Given the description of an element on the screen output the (x, y) to click on. 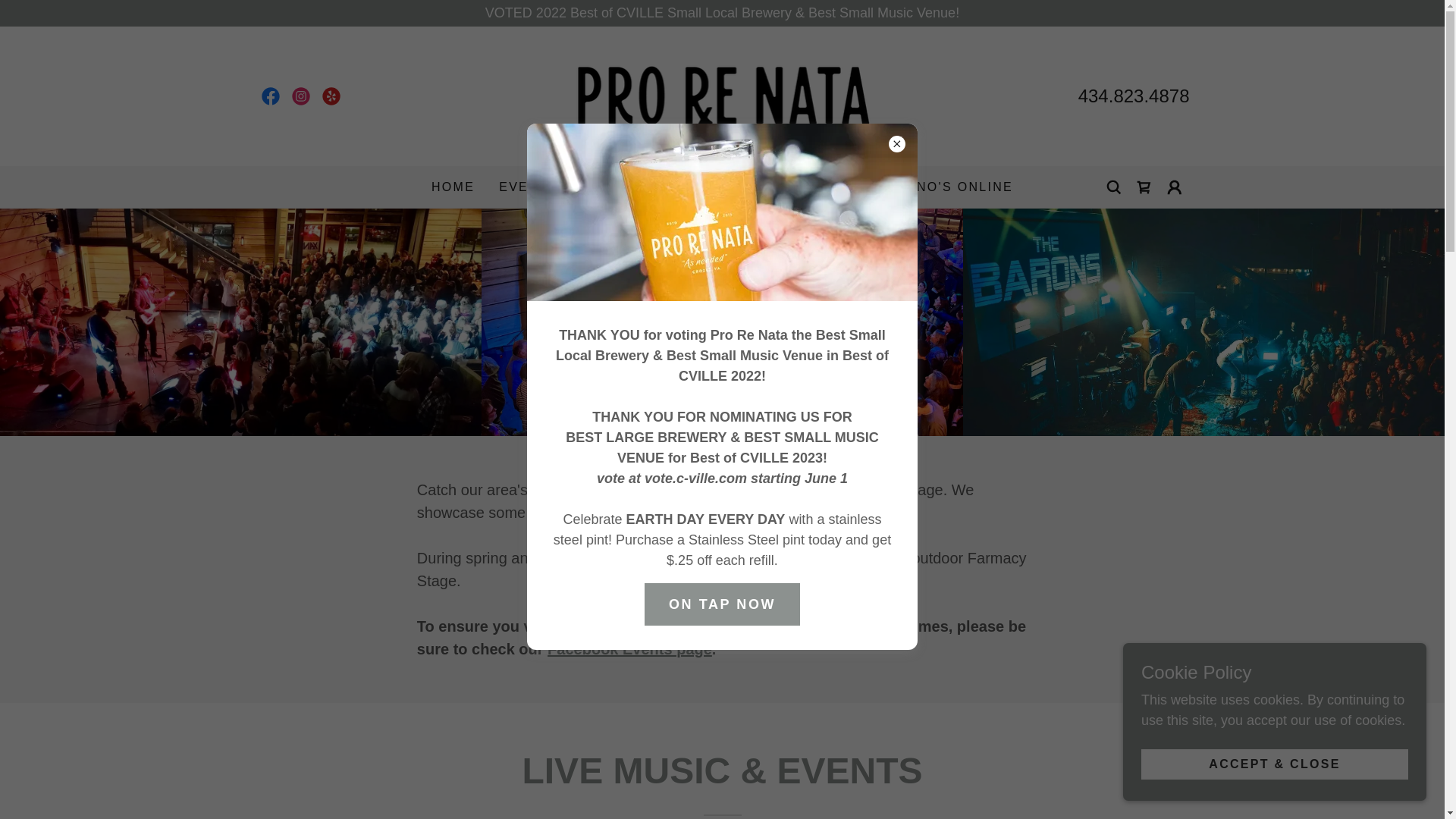
PRN TO GO (778, 186)
434.823.4878 (1133, 95)
HOME (452, 186)
EVENTS (536, 187)
ORDER DINO'S ONLINE (927, 186)
